Given the description of an element on the screen output the (x, y) to click on. 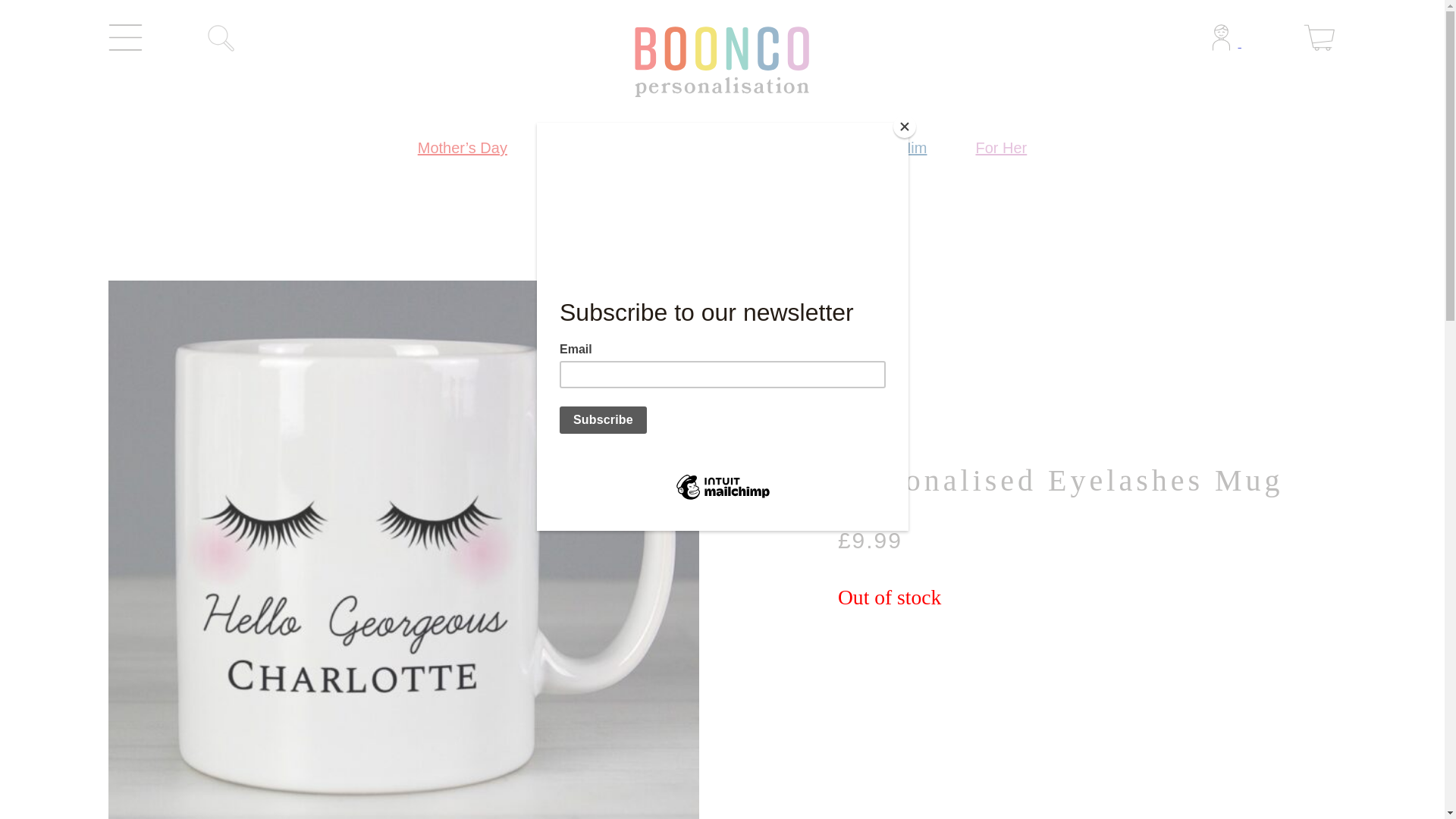
Birthday (583, 147)
